Given the description of an element on the screen output the (x, y) to click on. 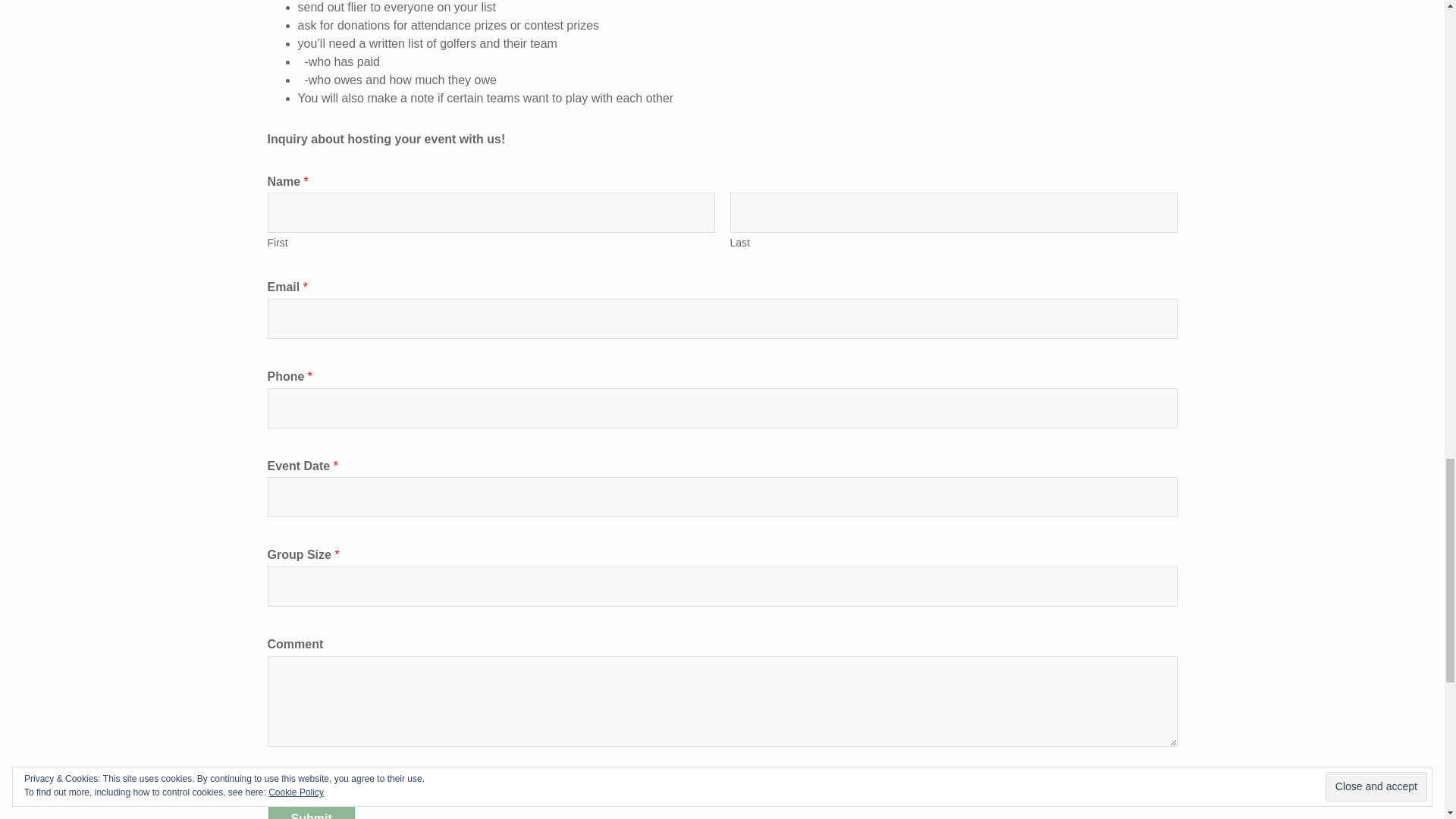
Submit (310, 809)
